Given the description of an element on the screen output the (x, y) to click on. 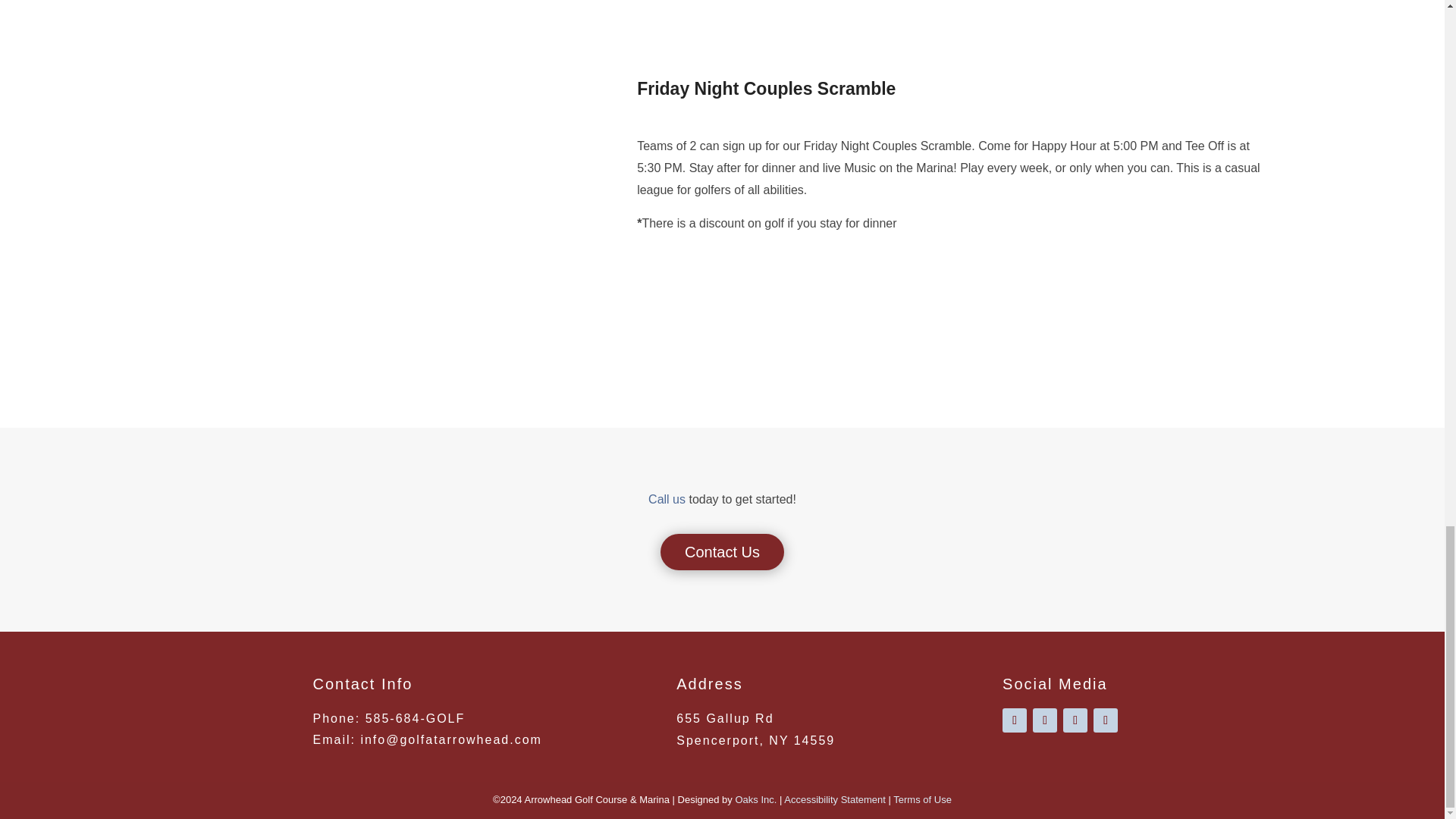
Terms of Use (922, 799)
Follow on Instagram (1014, 720)
Call us (666, 499)
Follow on X (1074, 720)
Oaks Inc. (755, 799)
Accessibility Statement (834, 799)
Follow on LinkedIn (1105, 720)
Follow on Facebook (1044, 720)
Contact Us (722, 551)
